Given the description of an element on the screen output the (x, y) to click on. 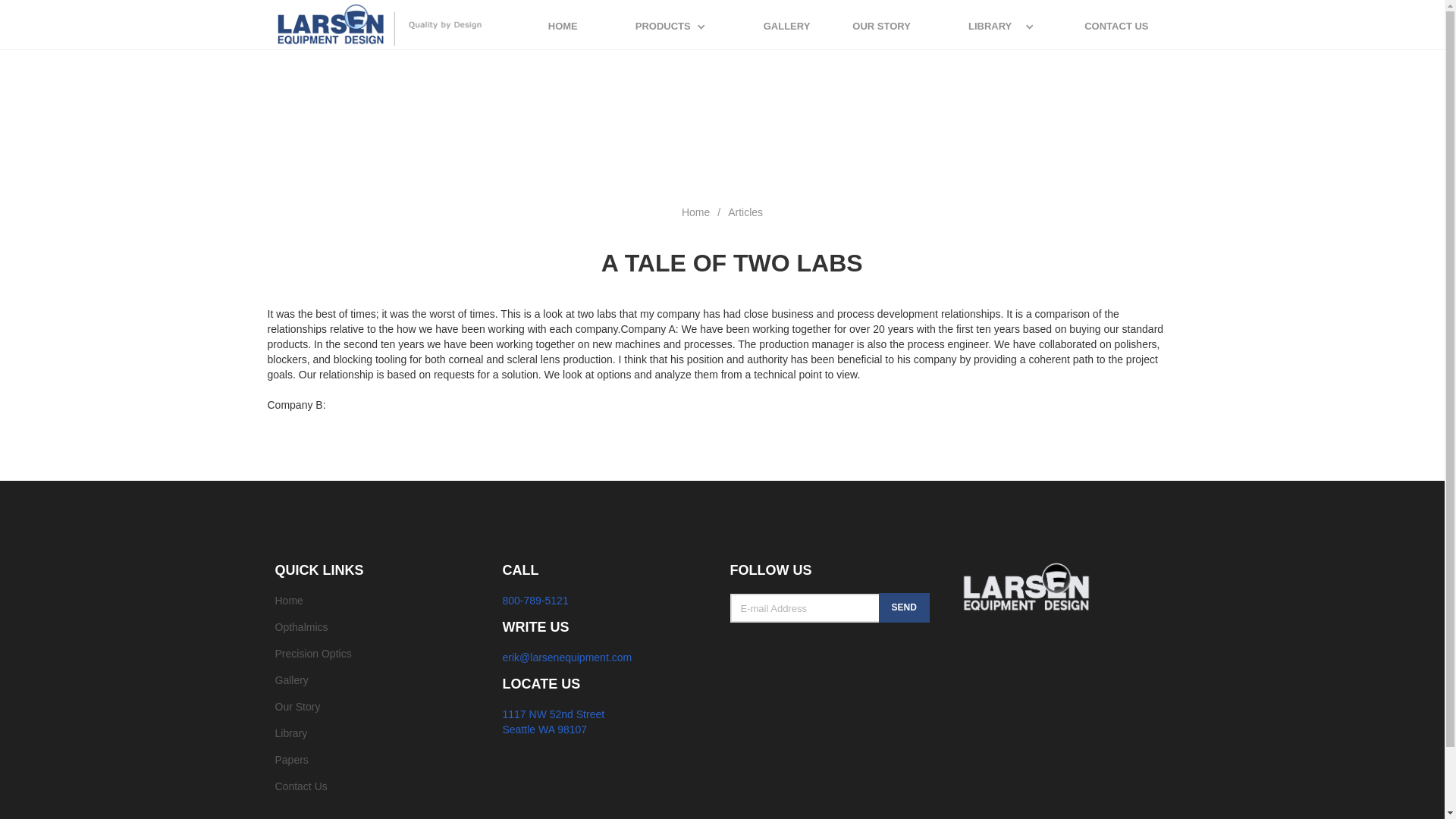
Precision Optics (312, 653)
Papers (291, 759)
Contact Us (300, 786)
800-789-5121 (534, 600)
Library (291, 733)
CONTACT US (1115, 24)
GALLERY (786, 24)
Opthalmics (301, 626)
Our Story (297, 706)
HOME (562, 24)
Home (695, 212)
Gallery (553, 721)
Send (291, 680)
Send (902, 607)
